Given the description of an element on the screen output the (x, y) to click on. 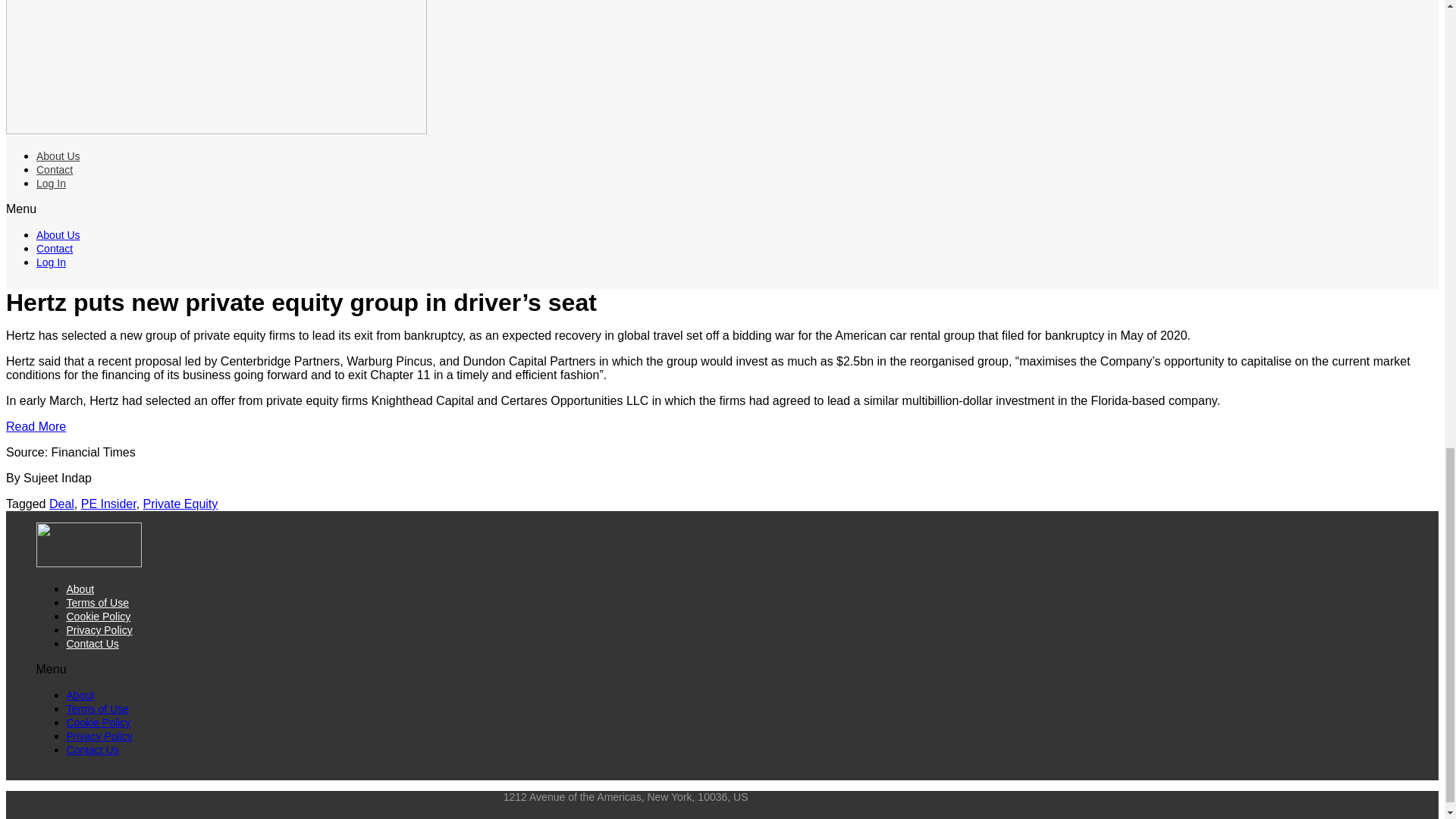
Cookie Policy (98, 722)
Contact Us (92, 644)
About Us (58, 155)
About Us (58, 234)
PE Insider (108, 503)
Terms of Use (97, 603)
Read More (35, 426)
Deal (61, 503)
About (80, 695)
Cookie Policy (98, 616)
Privacy Policy (99, 630)
Contact (54, 248)
Privacy Policy (99, 736)
Log In (50, 262)
Contact (54, 169)
